Given the description of an element on the screen output the (x, y) to click on. 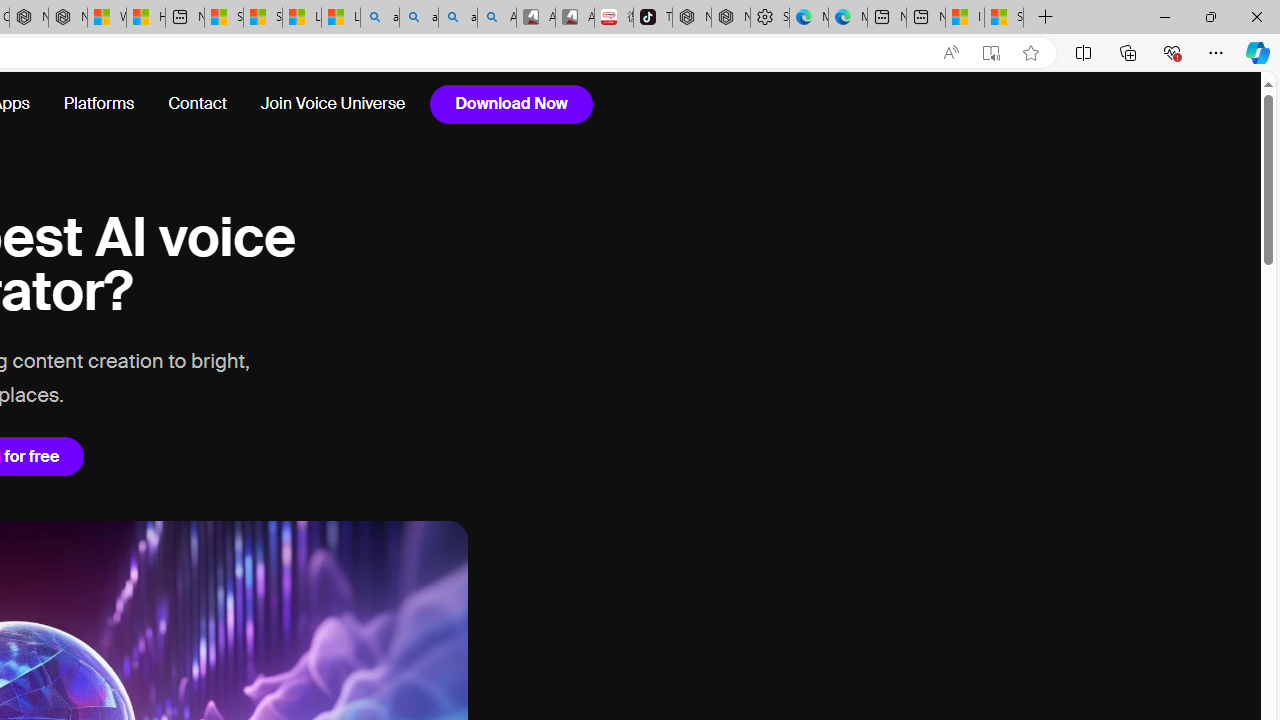
Join Voice Universe (332, 103)
Nordace - Best Sellers (691, 17)
amazon - Search (418, 17)
Enter Immersive Reader (F9) (991, 53)
amazon - Search Images (458, 17)
TikTok (652, 17)
Contact (196, 103)
